Given the description of an element on the screen output the (x, y) to click on. 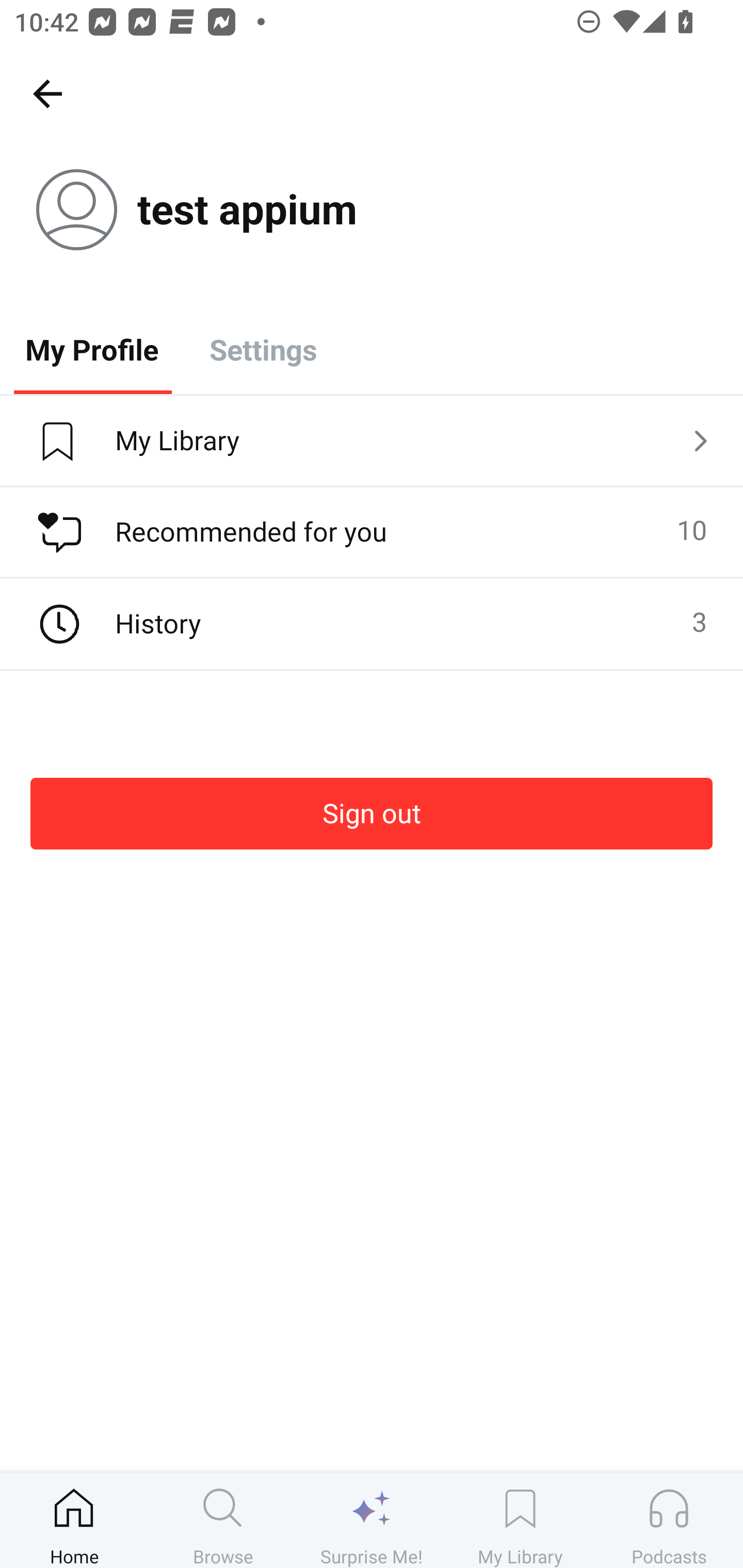
Home, back (47, 92)
My Profile (92, 348)
Settings (263, 348)
My Library (371, 441)
Recommended for you 10 (371, 532)
History 3 (371, 623)
Sign out (371, 813)
Home (74, 1520)
Browse (222, 1520)
Surprise Me! (371, 1520)
My Library (519, 1520)
Podcasts (668, 1520)
